Given the description of an element on the screen output the (x, y) to click on. 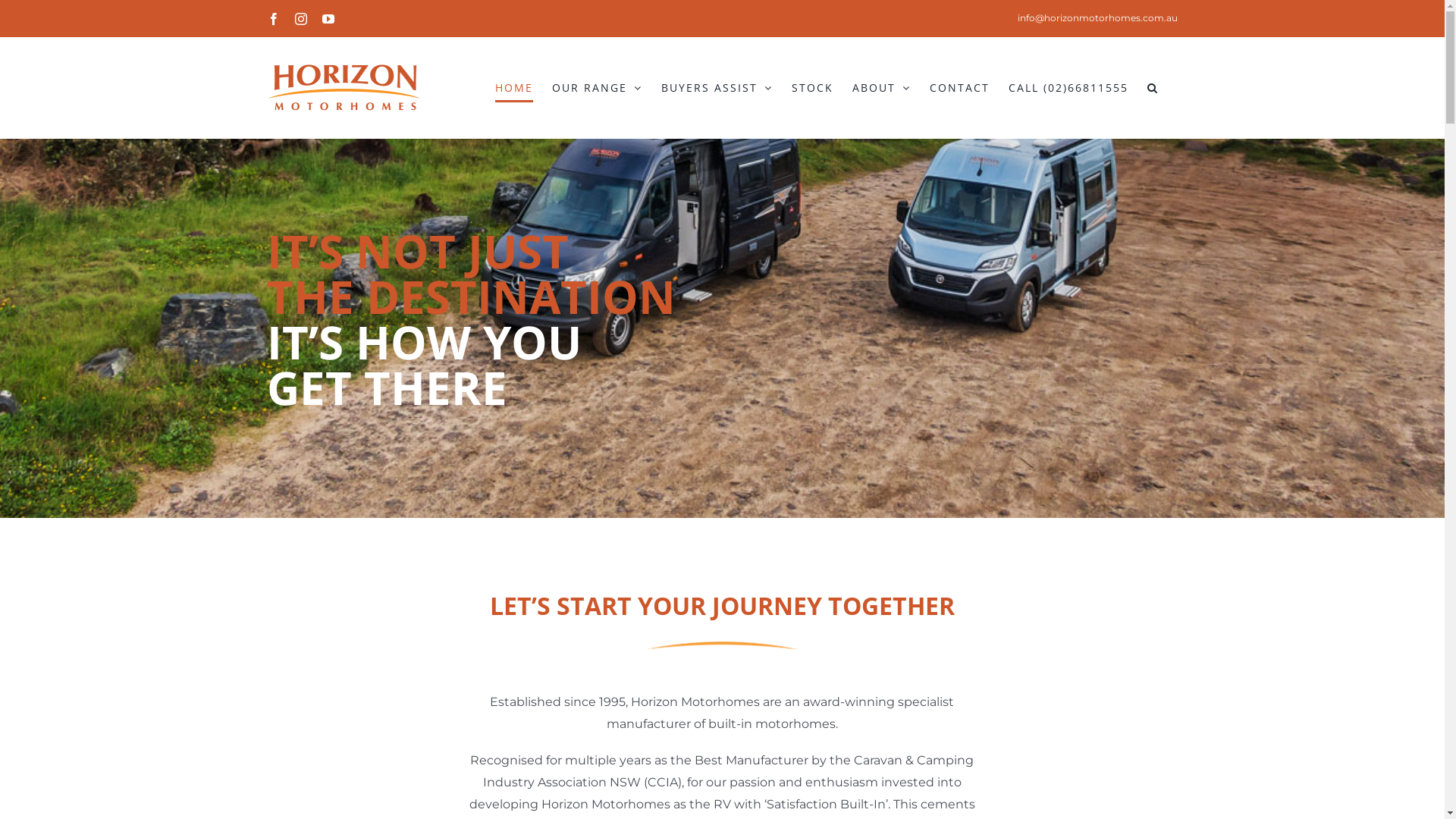
BUYERS ASSIST Element type: text (716, 87)
Instagram Element type: text (300, 18)
Facebook Element type: text (272, 18)
Search Element type: hover (1151, 87)
HOME Element type: text (513, 87)
OUR RANGE Element type: text (597, 87)
ICON-Horizon-Motorhomes-logo-800px Element type: hover (721, 645)
STOCK Element type: text (812, 87)
ABOUT Element type: text (881, 87)
CALL (02)66811555 Element type: text (1068, 87)
info@horizonmotorhomes.com.au Element type: text (1097, 17)
YouTube Element type: text (327, 18)
CONTACT Element type: text (959, 87)
